Given the description of an element on the screen output the (x, y) to click on. 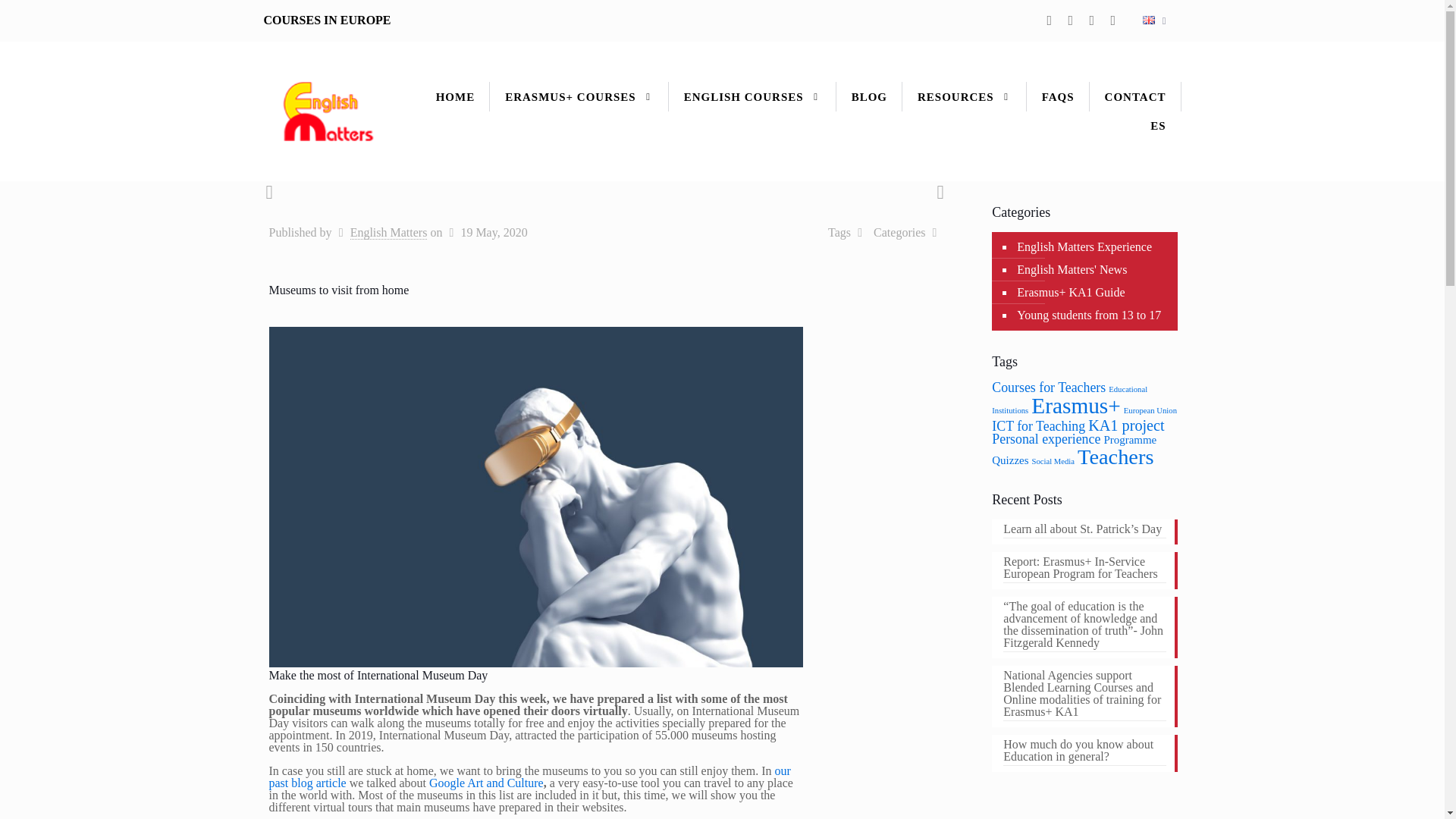
ENGLISH COURSES (751, 96)
HOME (455, 96)
